Given the description of an element on the screen output the (x, y) to click on. 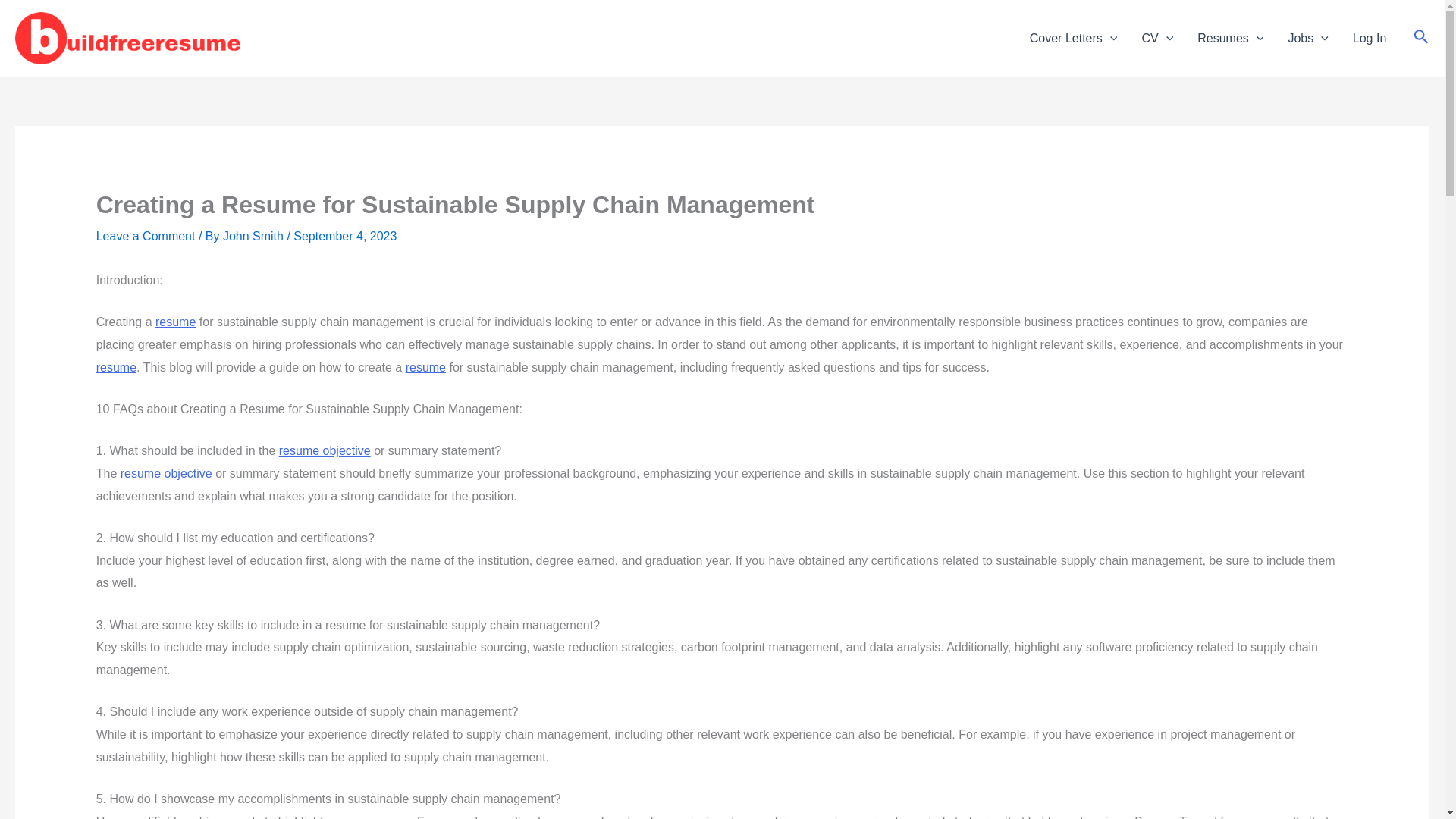
CV (1157, 37)
Cover Letters (1073, 37)
View all posts by John Smith (252, 236)
Jobs (1307, 37)
Resumes (1230, 37)
